Given the description of an element on the screen output the (x, y) to click on. 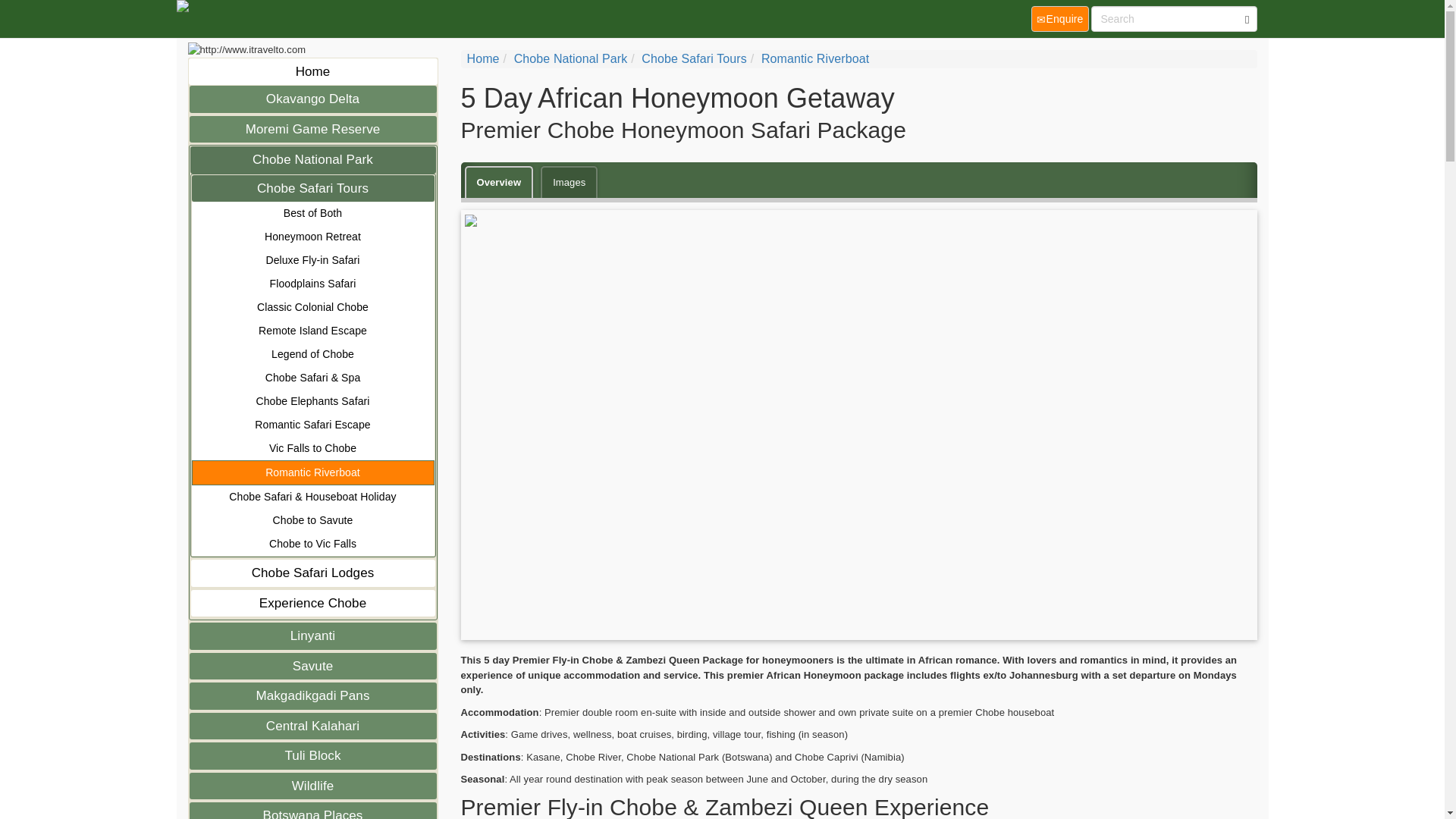
Okavango Delta (312, 99)
Classic Colonial Chobe (311, 307)
Romantic Riverboat (815, 58)
Central Kalahari (312, 726)
Moremi Game Reserve (312, 128)
Experience Chobe (312, 603)
Floodplains Safari (311, 283)
Vic Falls to Chobe (311, 448)
Wildlife (312, 785)
Images (568, 182)
